Given the description of an element on the screen output the (x, y) to click on. 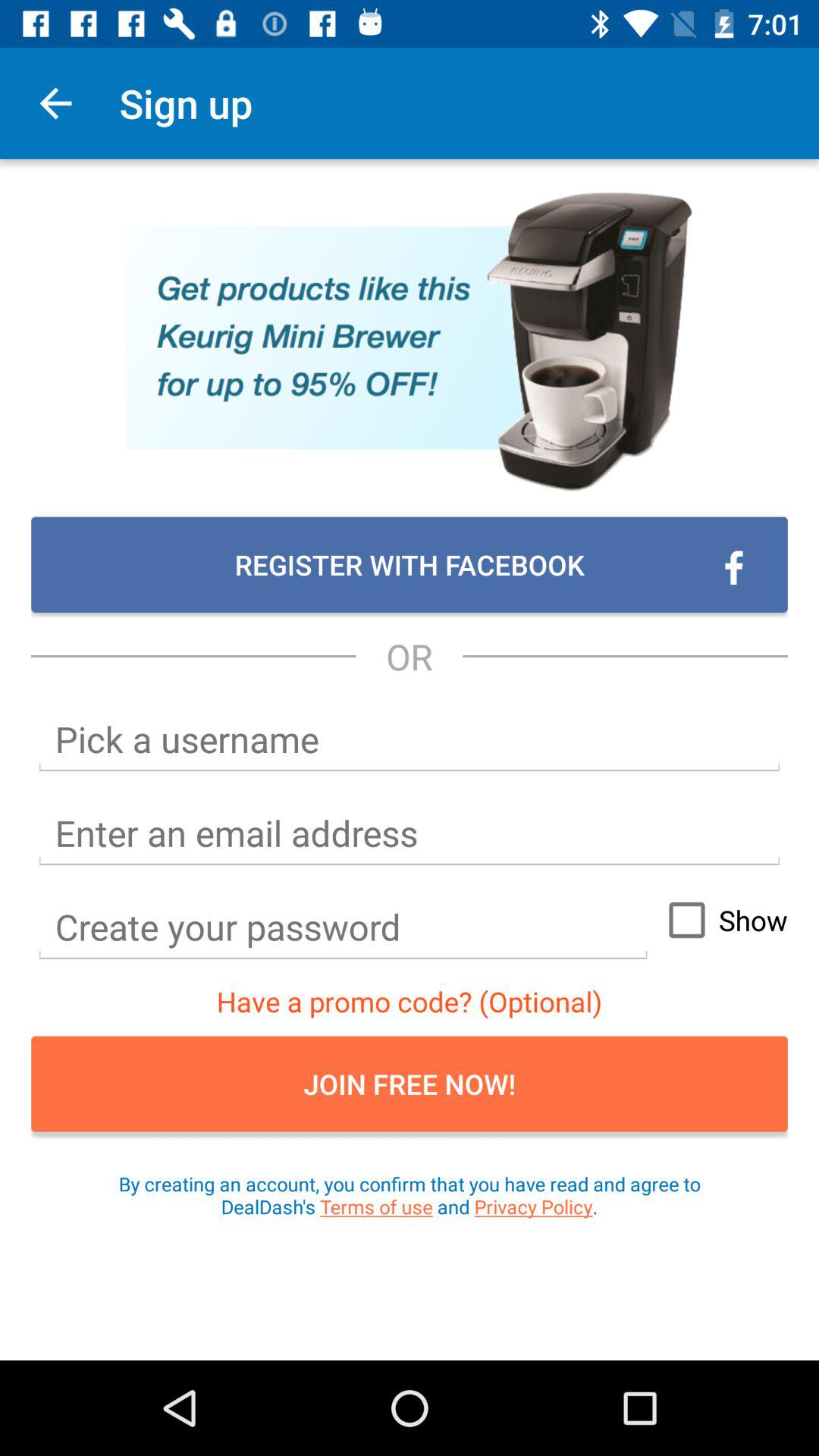
select icon above the by creating an item (409, 1083)
